Given the description of an element on the screen output the (x, y) to click on. 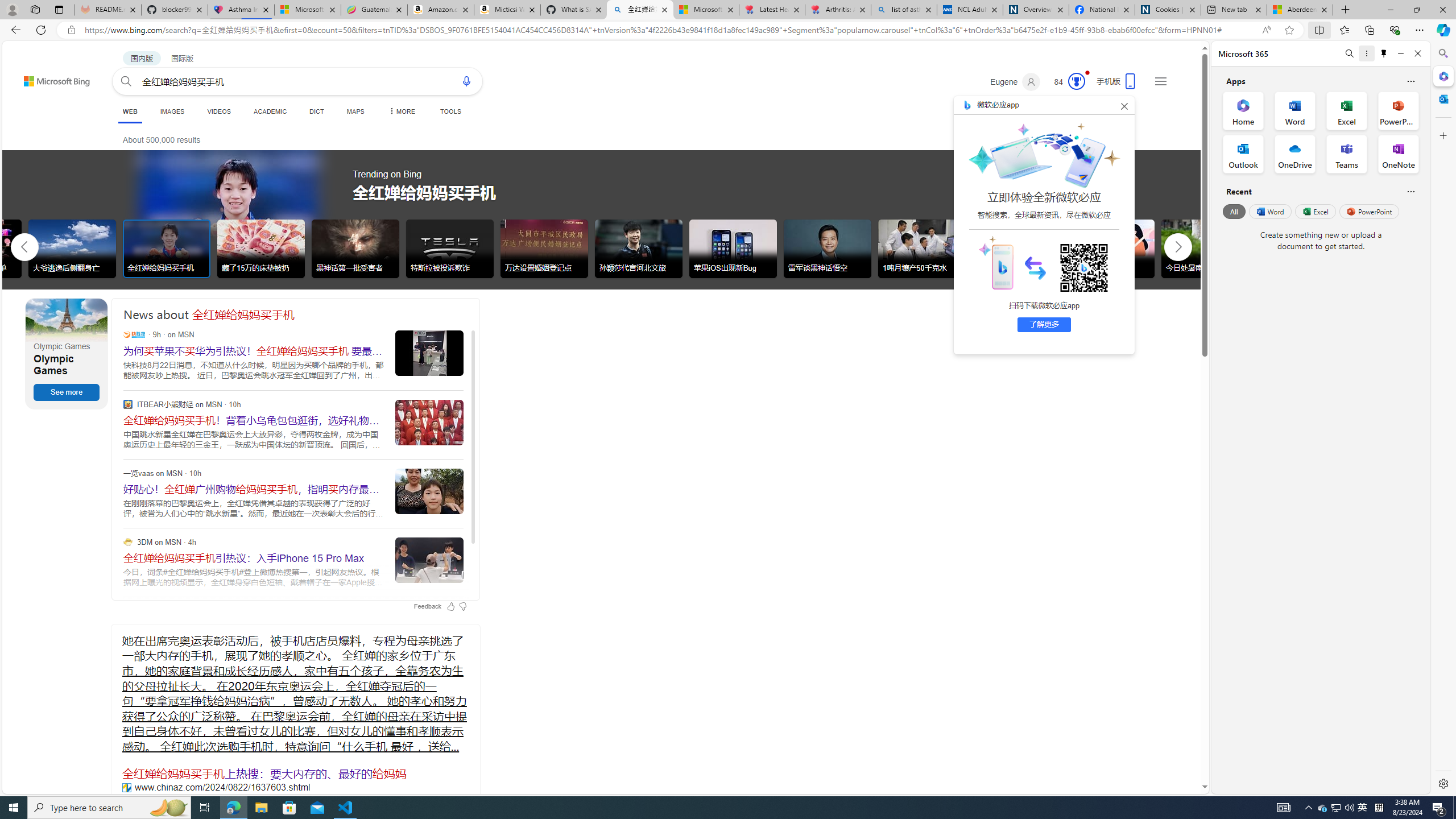
WEB (129, 112)
TOOLS (450, 111)
Excel (1315, 210)
Outlook Office App (1243, 154)
Eugene (1015, 81)
AutomationID: tob_left_arrow (24, 246)
Excel Office App (1346, 110)
